Given the description of an element on the screen output the (x, y) to click on. 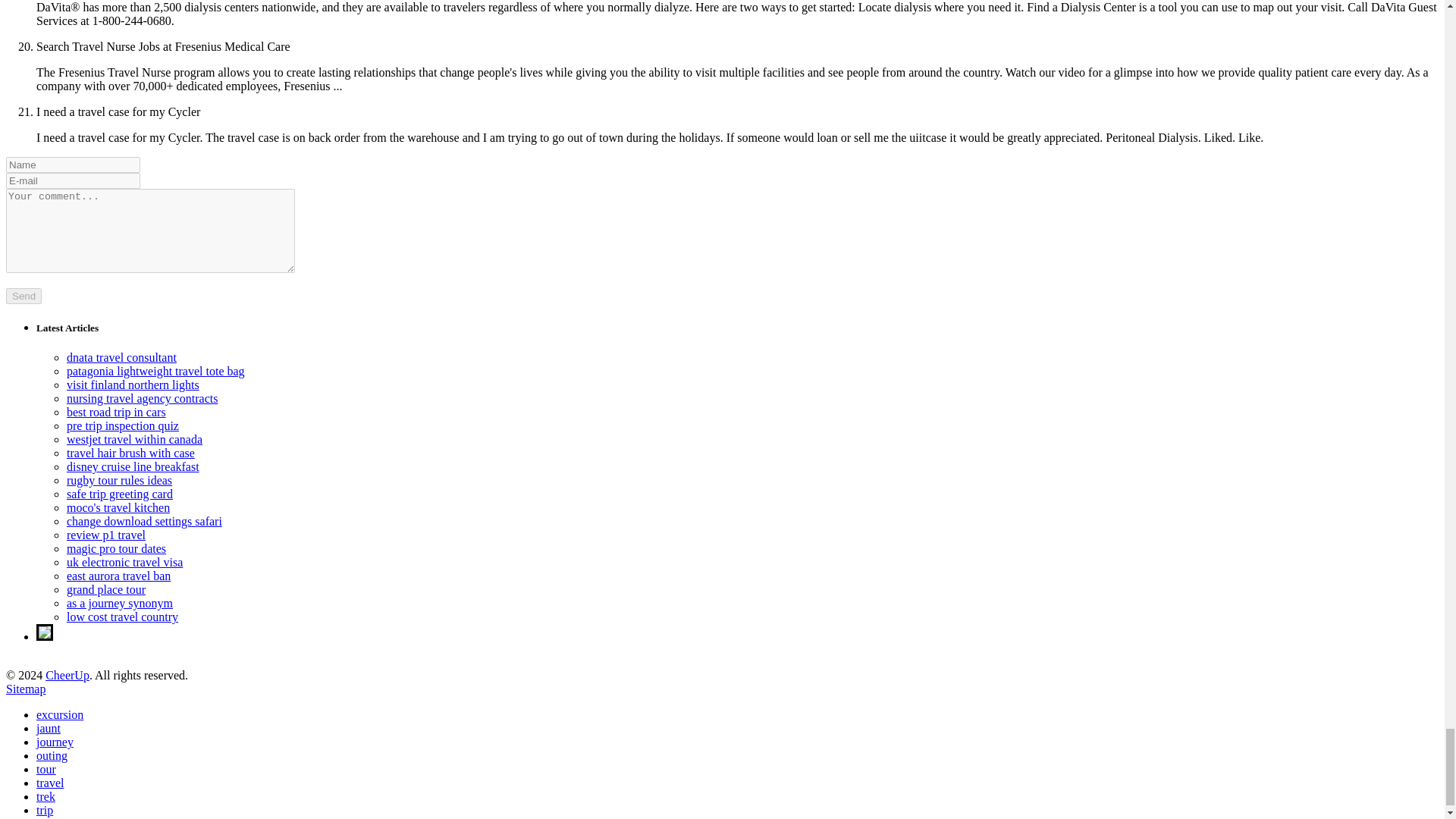
moco's travel kitchen (118, 507)
nursing travel agency contracts (141, 398)
westjet travel within canada (134, 439)
best road trip in cars (115, 411)
pre trip inspection quiz (122, 425)
travel hair brush with case (130, 452)
low cost travel country (121, 616)
disney cruise line breakfast (132, 466)
Send (23, 295)
change download settings safari (144, 521)
